Given the description of an element on the screen output the (x, y) to click on. 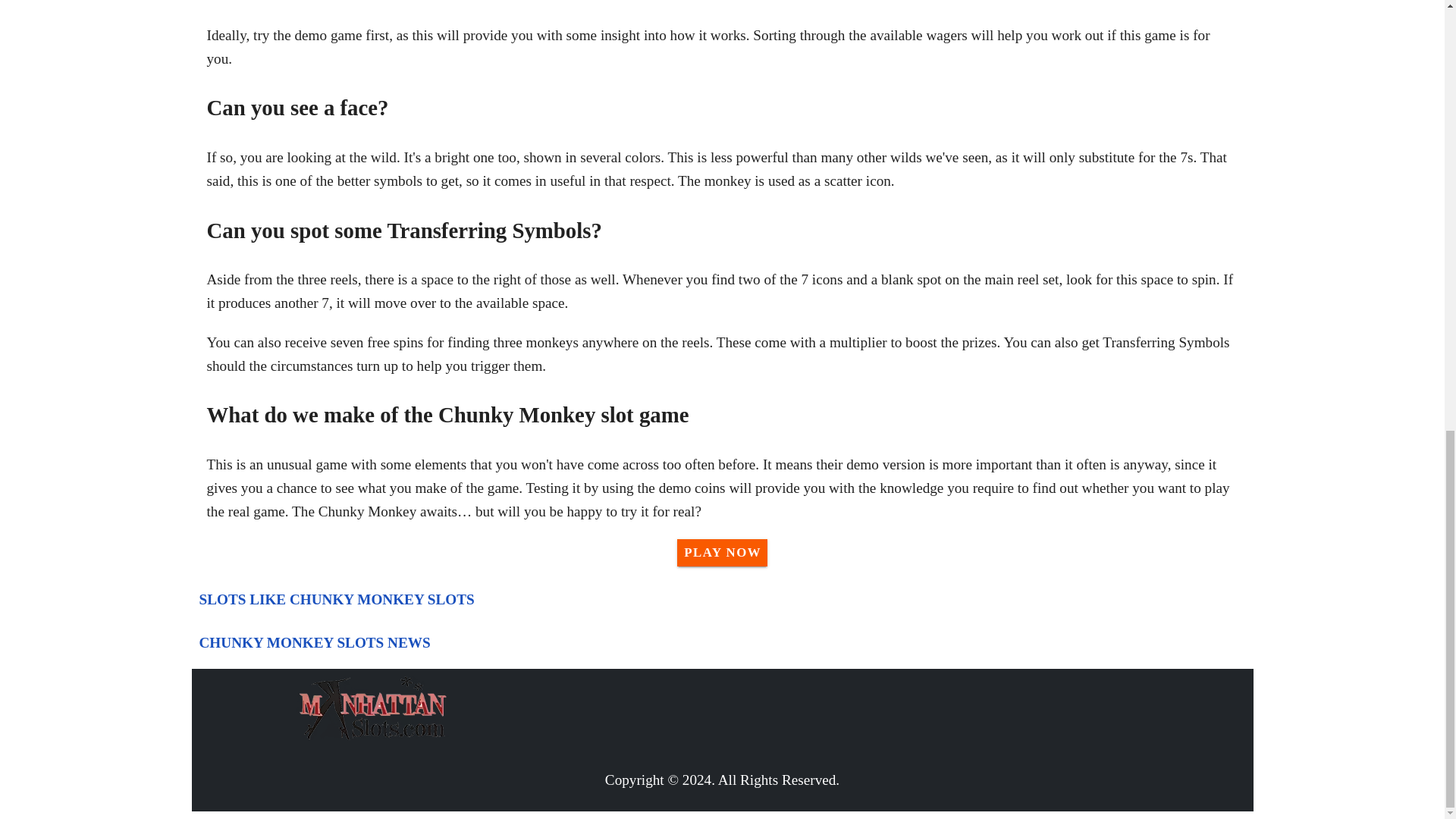
PLAY NOW (722, 552)
